Given the description of an element on the screen output the (x, y) to click on. 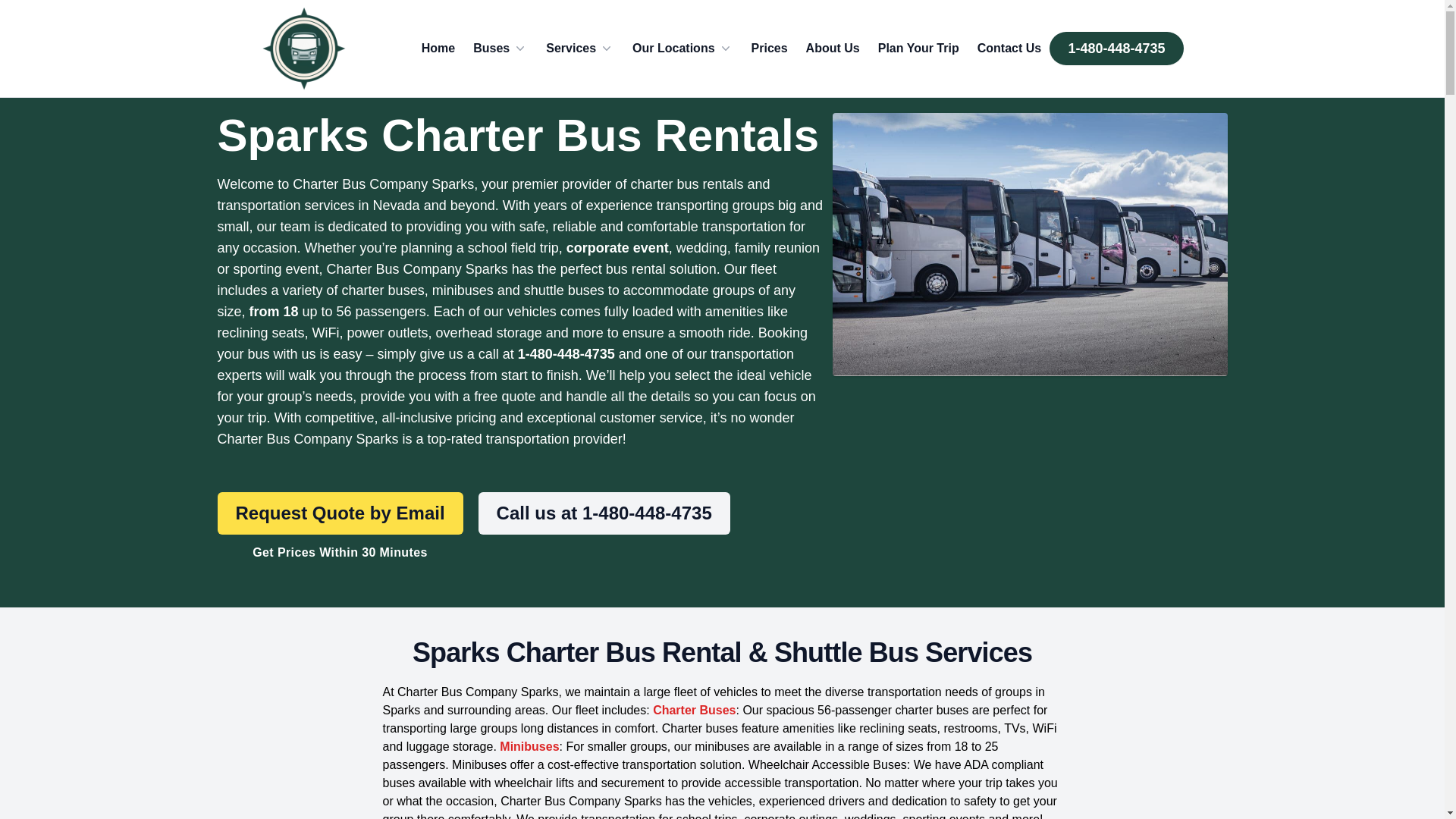
Home (438, 48)
Contact Us (1008, 48)
About Us (833, 48)
Our Locations (681, 48)
Charter Bus Company Reno, (303, 48)
1-480-448-4735 (1115, 48)
Services (580, 48)
Plan Your Trip (918, 48)
Prices (769, 48)
Buses (500, 48)
